Given the description of an element on the screen output the (x, y) to click on. 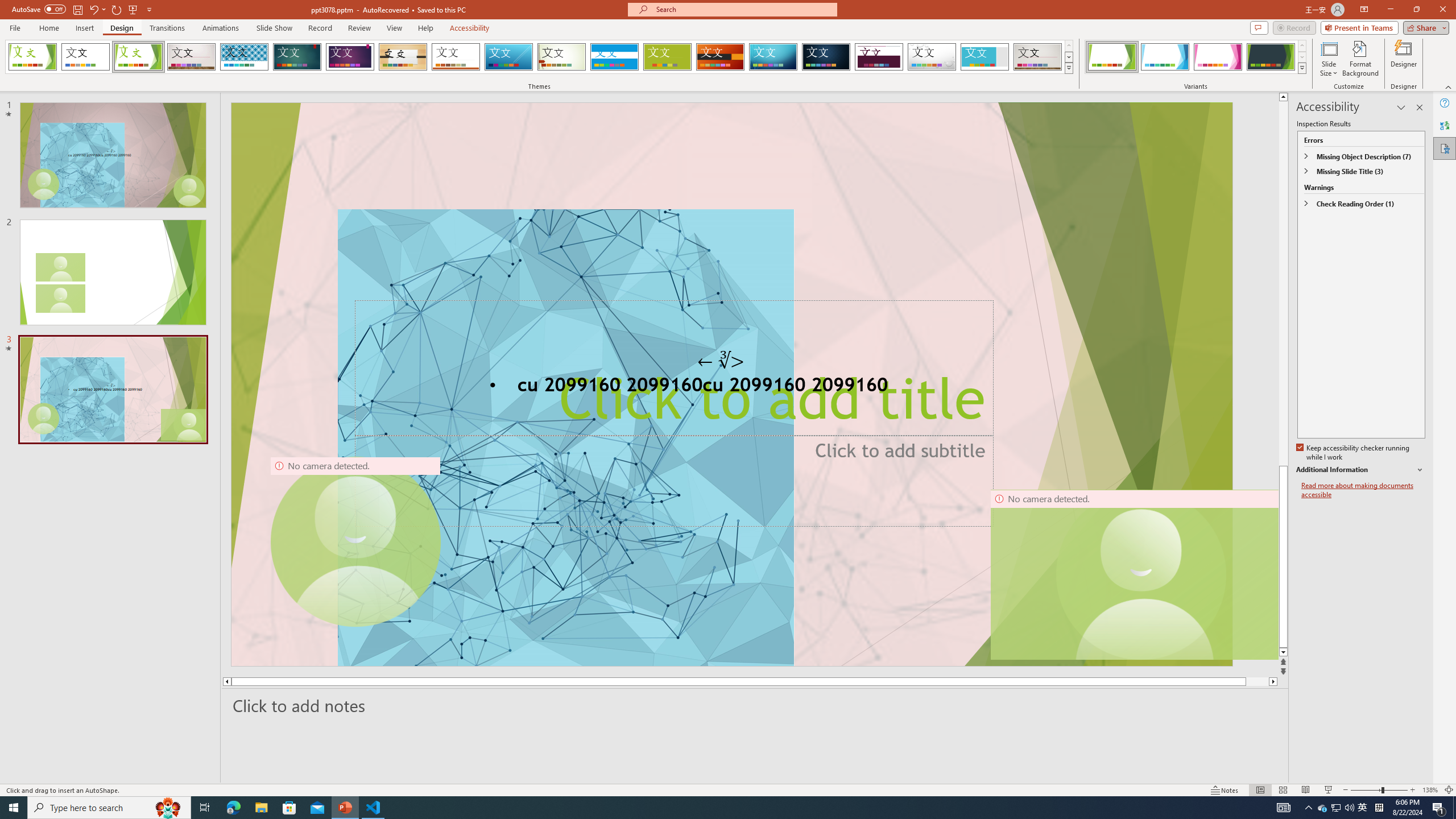
AutomationID: SlideThemesGallery (539, 56)
Facet Variant 2 (1164, 56)
Retrospect (455, 56)
Banded (614, 56)
